Given the description of an element on the screen output the (x, y) to click on. 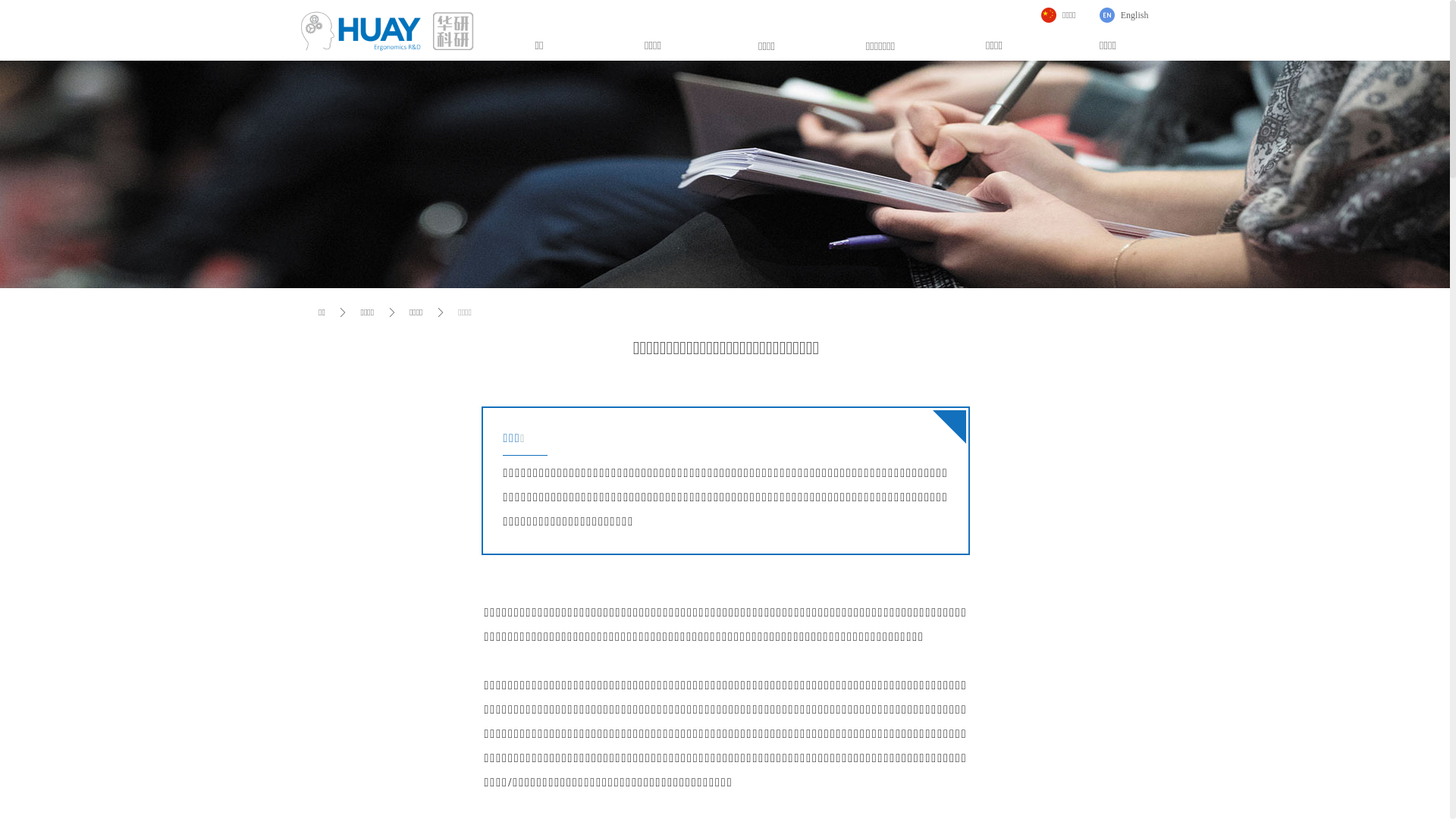
English Element type: text (1123, 14)
